Given the description of an element on the screen output the (x, y) to click on. 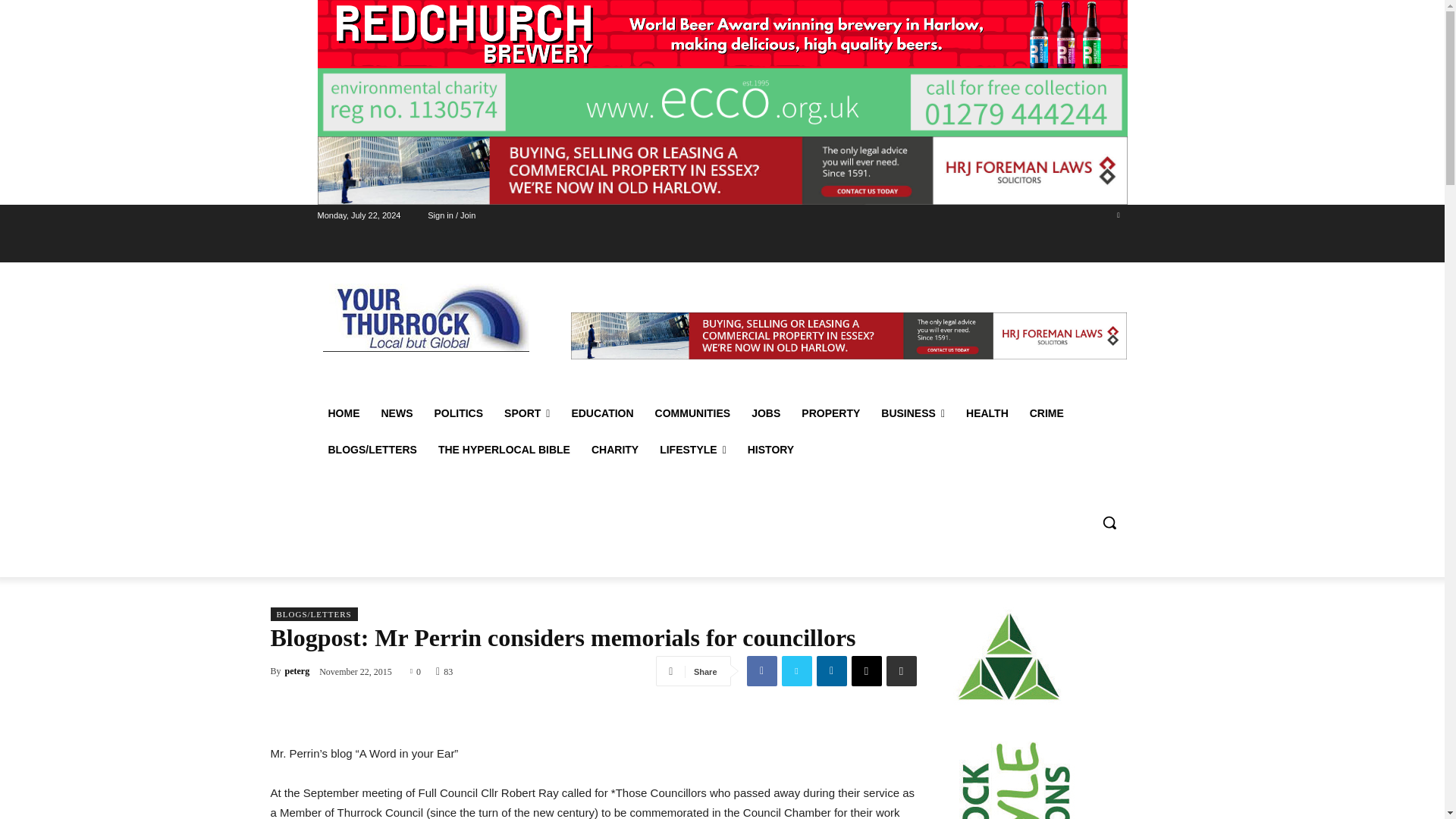
Linkedin (830, 671)
Facebook (760, 671)
Print (900, 671)
Twitter (1117, 215)
Email (865, 671)
Twitter (795, 671)
